Given the description of an element on the screen output the (x, y) to click on. 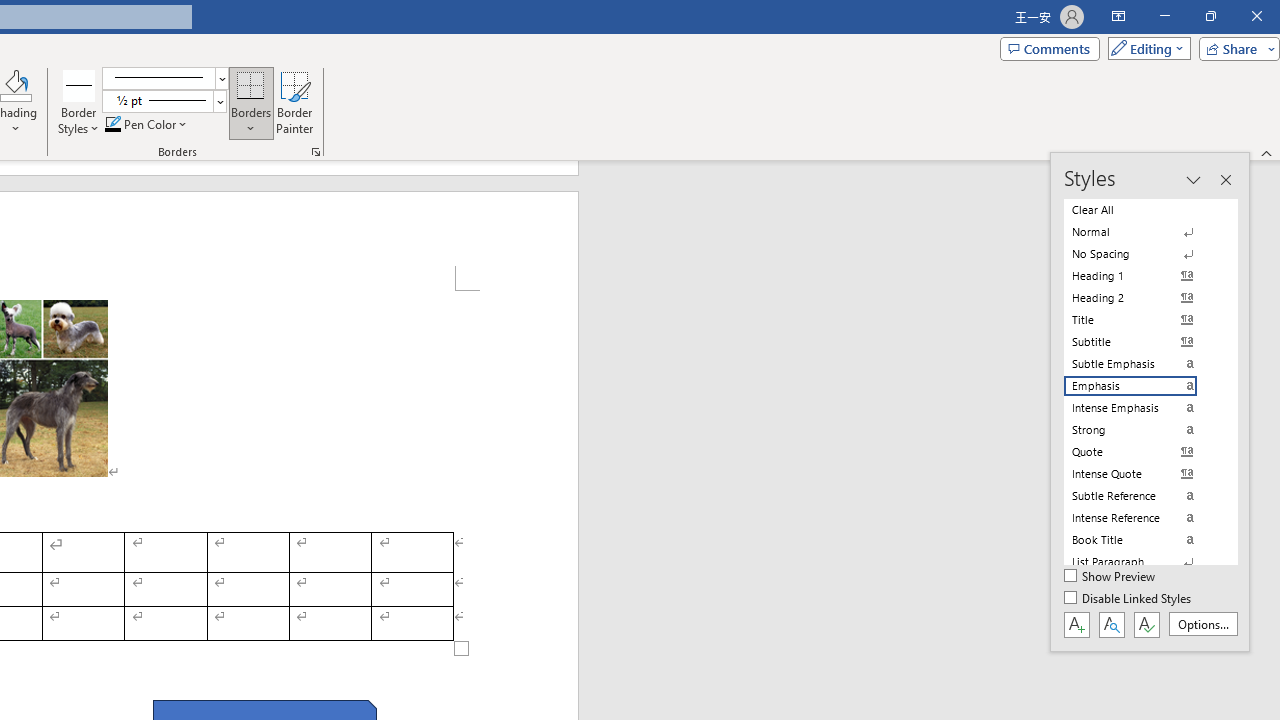
Normal (1142, 232)
Border Styles (79, 84)
List Paragraph (1142, 561)
Borders and Shading... (315, 151)
Heading 2 (1142, 297)
Emphasis (1142, 385)
Disable Linked Styles (1129, 599)
Options... (1202, 623)
Clear All (1142, 209)
Subtle Reference (1142, 495)
Intense Quote (1142, 473)
Subtle Emphasis (1142, 363)
